Given the description of an element on the screen output the (x, y) to click on. 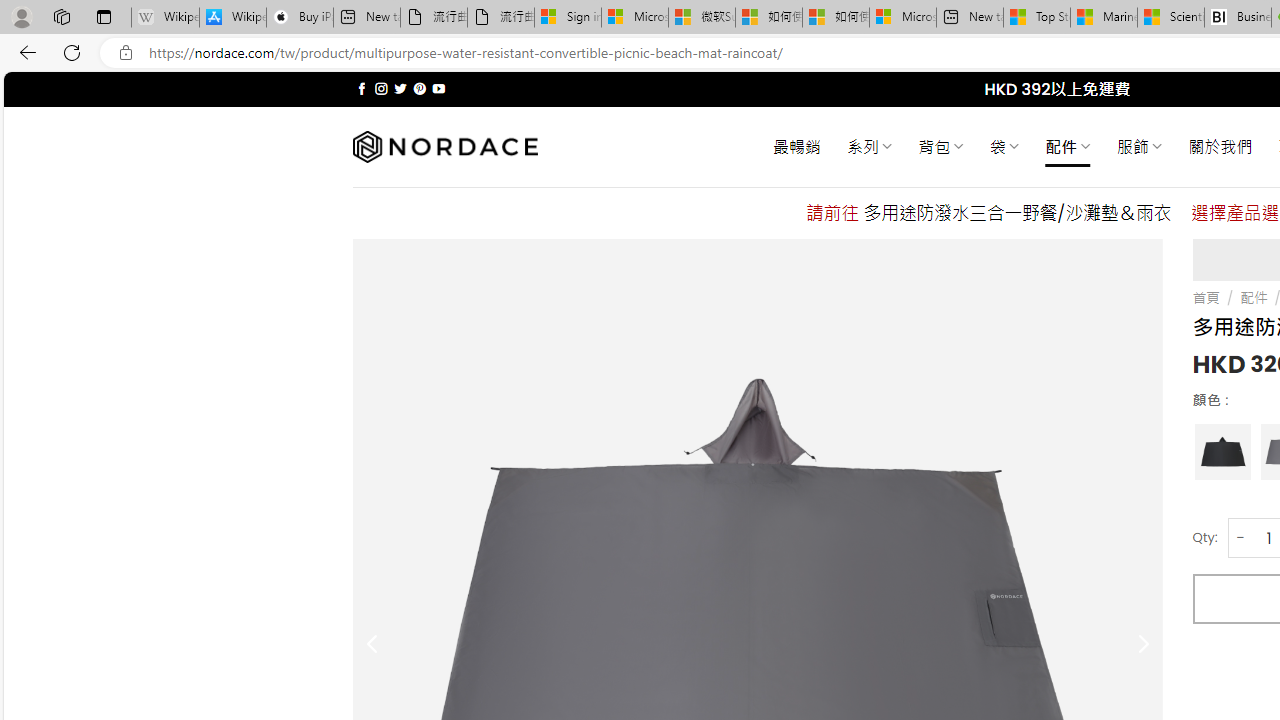
Sign in to your Microsoft account (568, 17)
Buy iPad - Apple (299, 17)
Follow on Pinterest (419, 88)
Microsoft Services Agreement (634, 17)
